Given the description of an element on the screen output the (x, y) to click on. 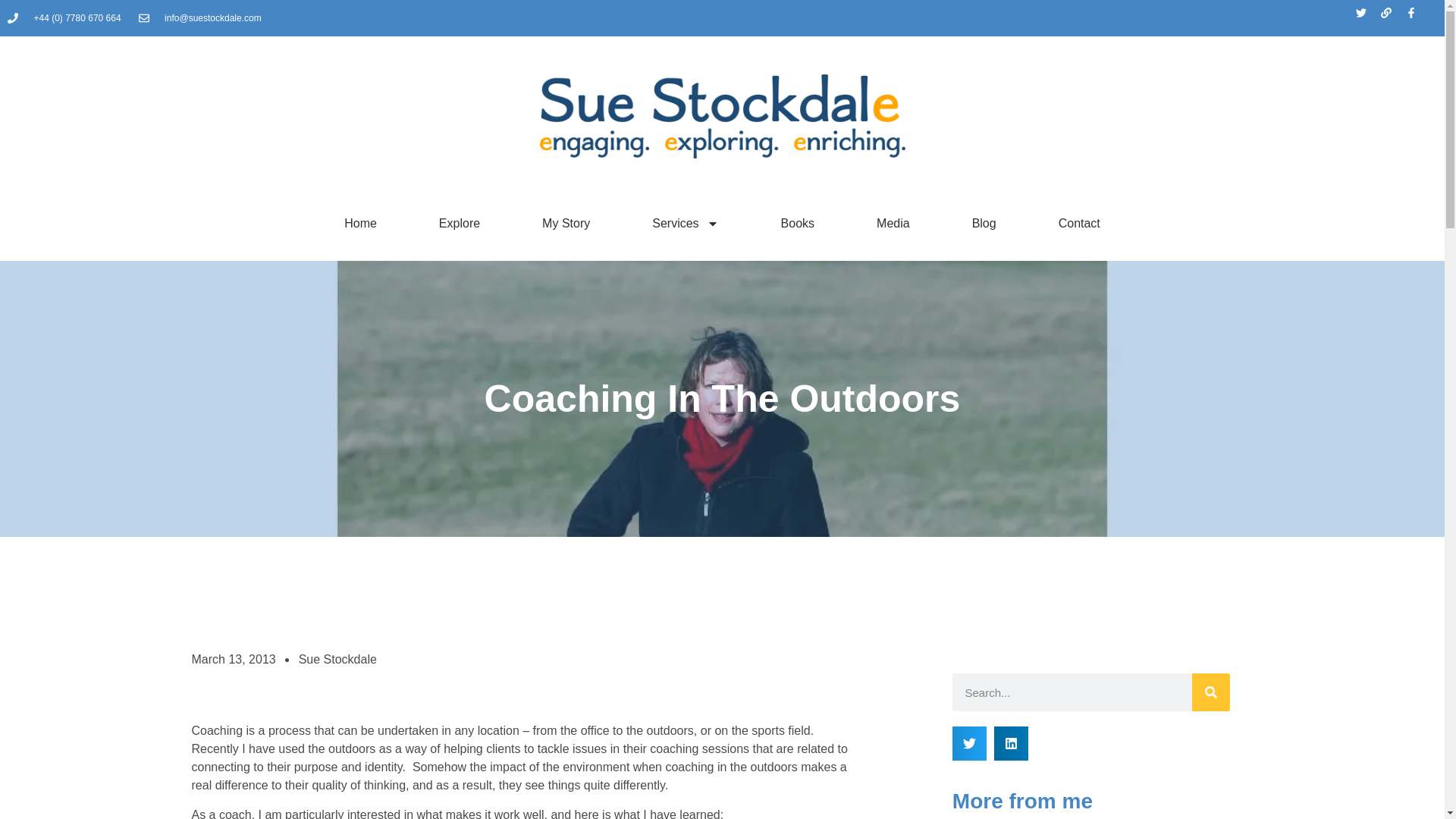
Books (797, 223)
Sue Stockdale (337, 659)
Blog (983, 223)
My Story (566, 223)
March 13, 2013 (232, 659)
Media (892, 223)
Contact (1079, 223)
Explore (459, 223)
Home (360, 223)
Services (685, 223)
